Given the description of an element on the screen output the (x, y) to click on. 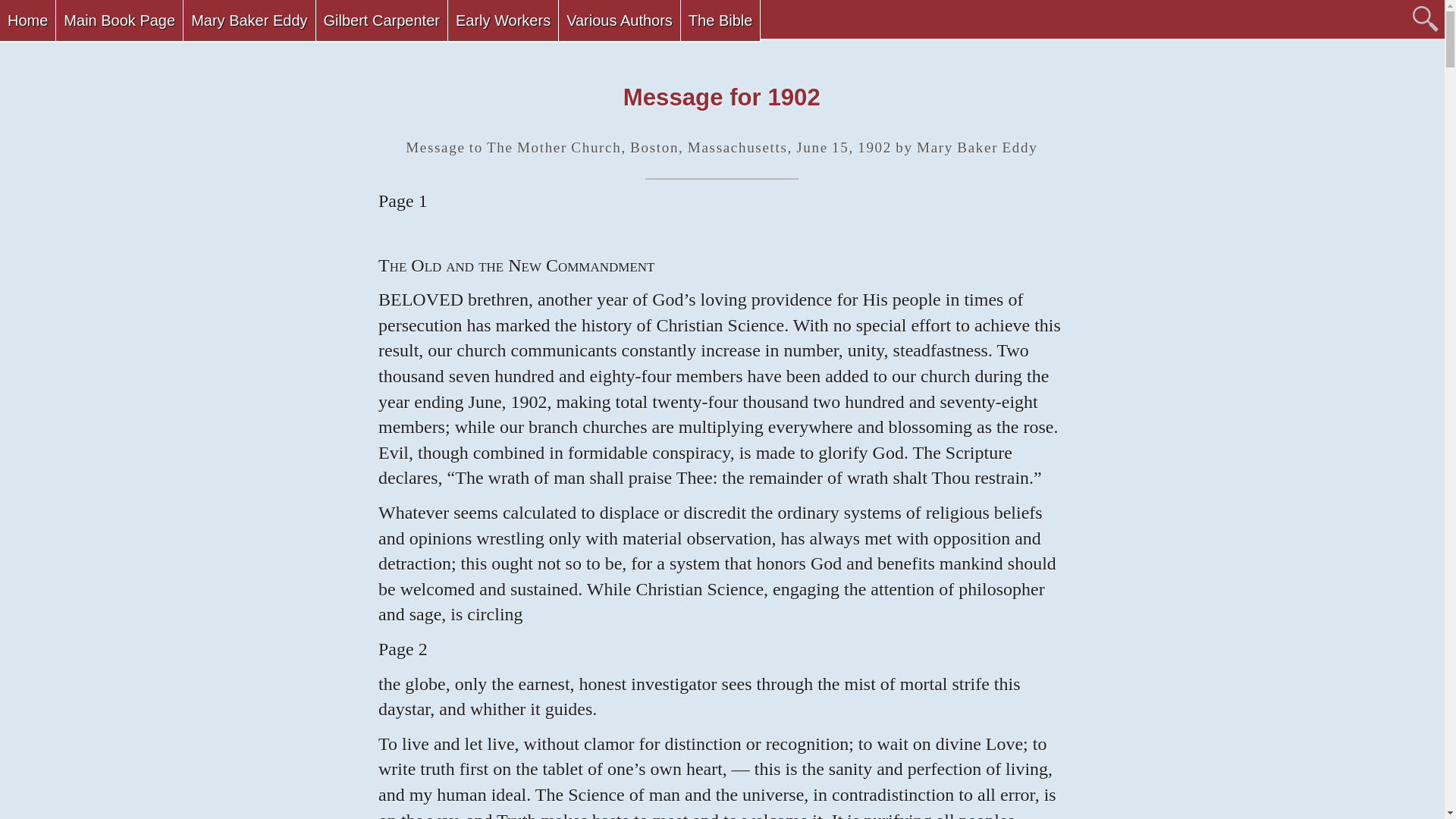
Early Workers (502, 21)
Gilbert Carpenter (380, 21)
Mary Baker Eddy (248, 21)
Home (27, 21)
Main Book Page (119, 21)
